Given the description of an element on the screen output the (x, y) to click on. 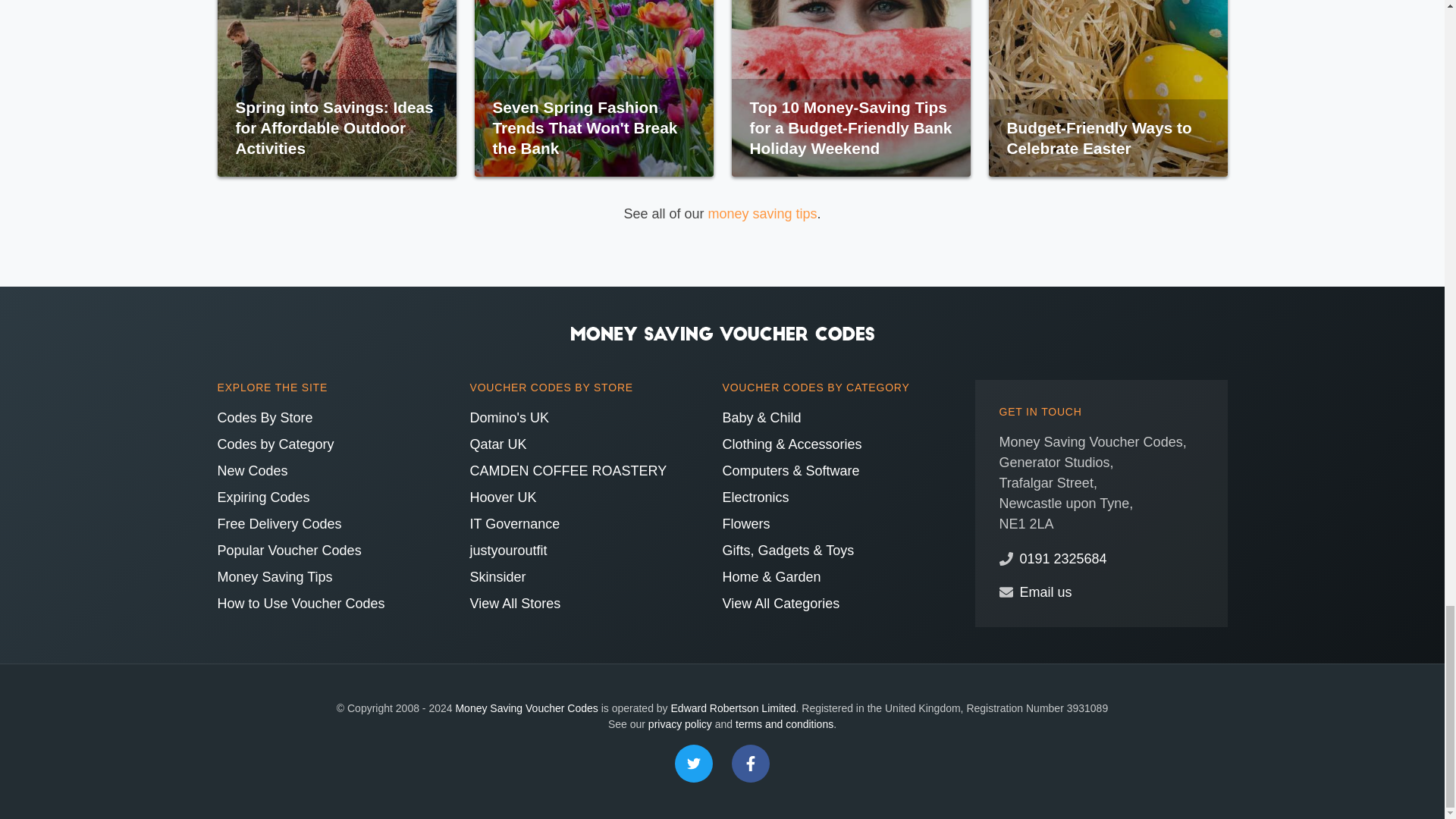
Visit our Homepage (721, 332)
Visit our Facebook (751, 763)
Visit our Twitter (694, 763)
